Given the description of an element on the screen output the (x, y) to click on. 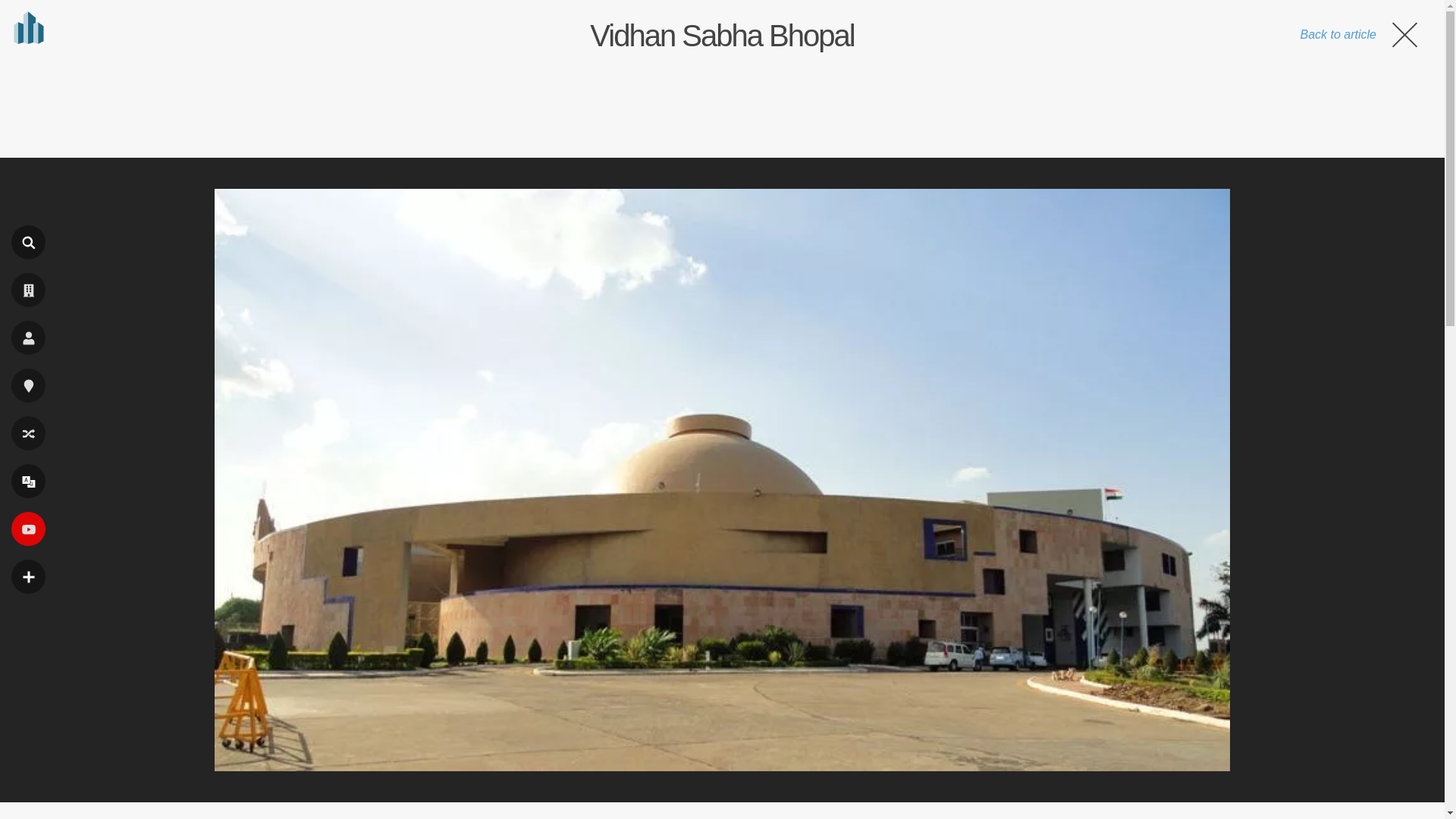
Vidhan Sabha Bhopal (721, 35)
Back to article (1361, 34)
Advertisement (721, 105)
